Given the description of an element on the screen output the (x, y) to click on. 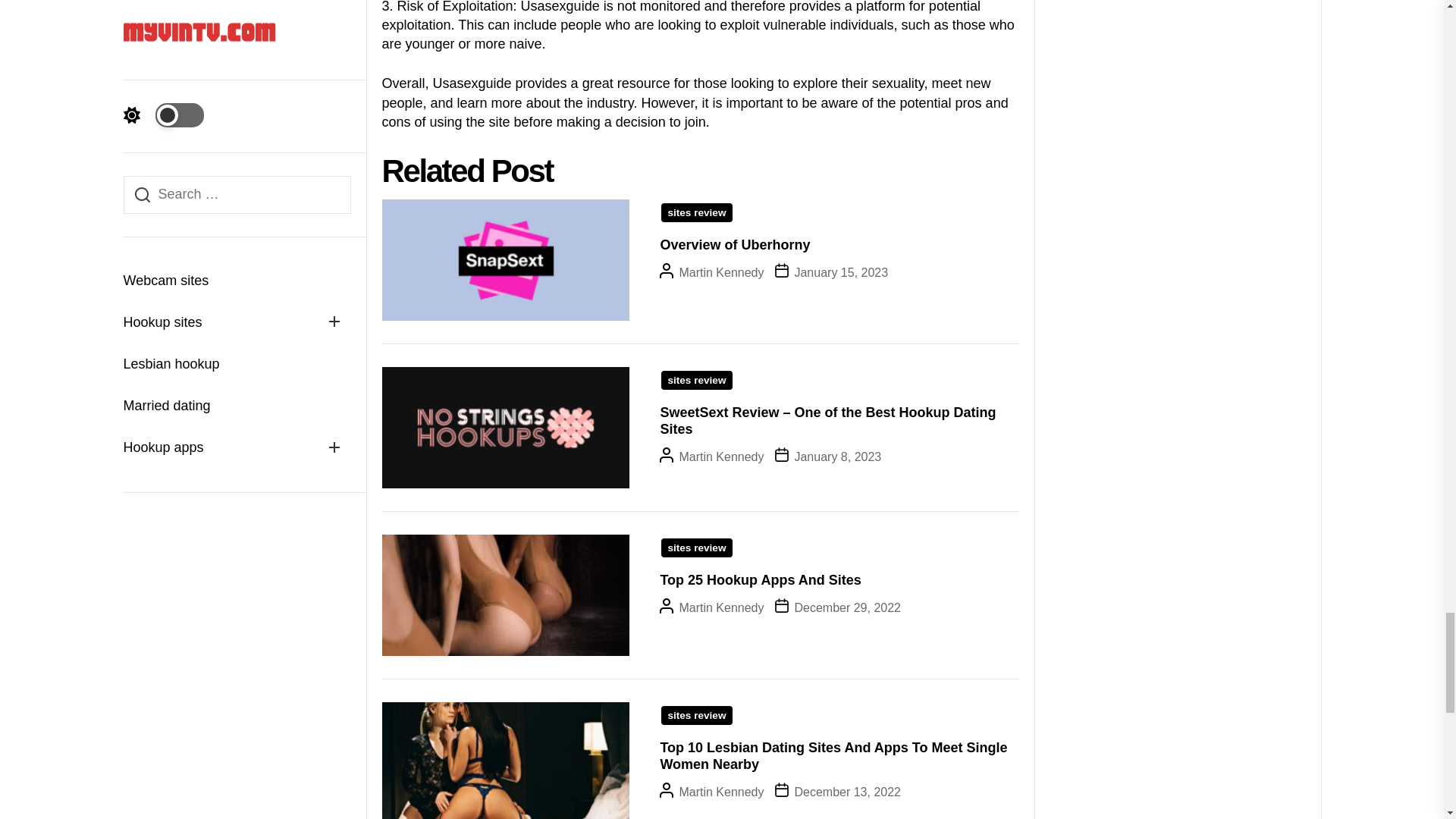
January 15, 2023 (840, 272)
sites review (696, 380)
Overview of Uberhorny (734, 244)
Martin Kennedy (720, 272)
sites review (696, 212)
